Given the description of an element on the screen output the (x, y) to click on. 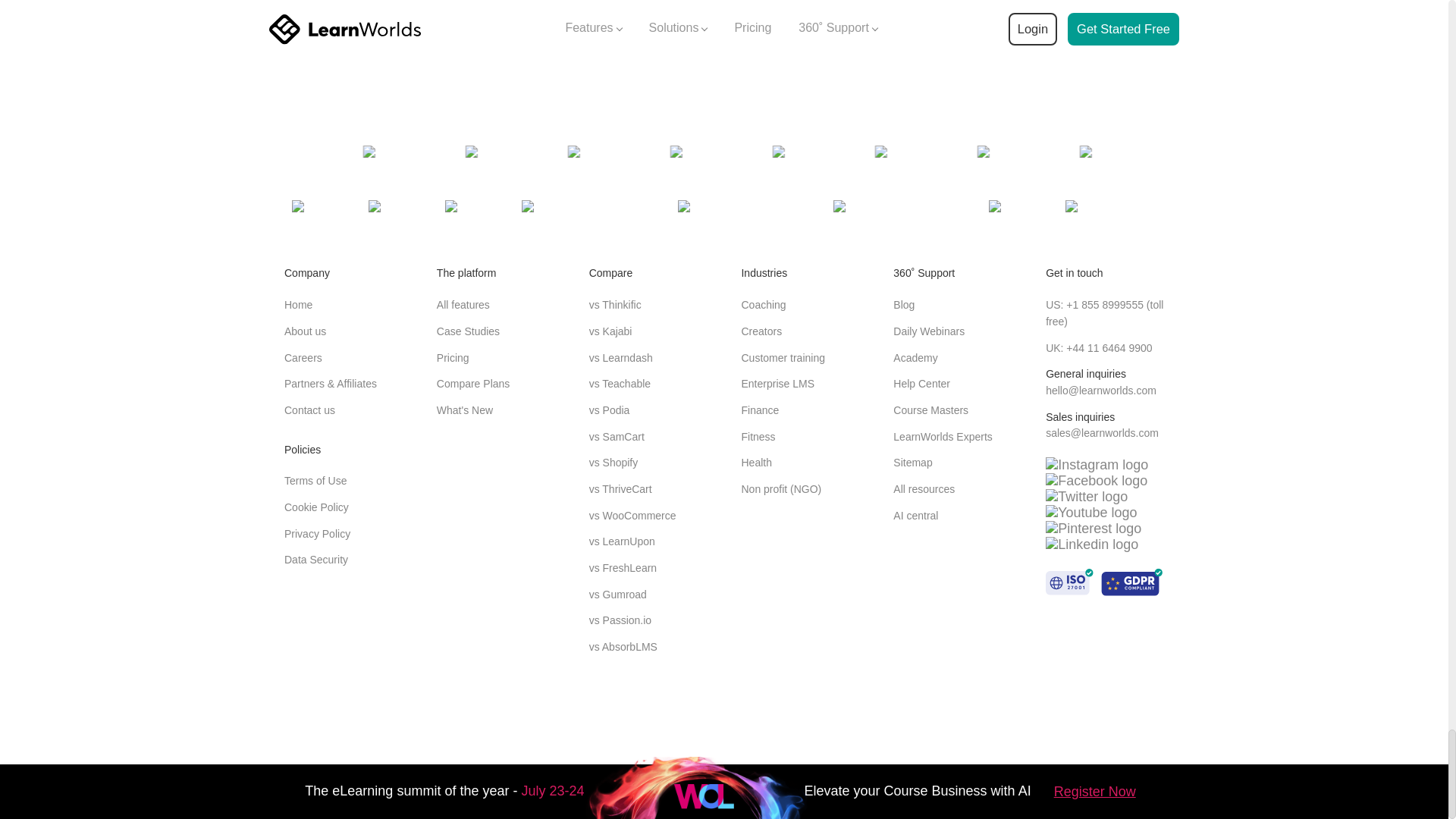
send email to LearnWorlds (1101, 432)
send email to LearnWorlds (1100, 390)
